Given the description of an element on the screen output the (x, y) to click on. 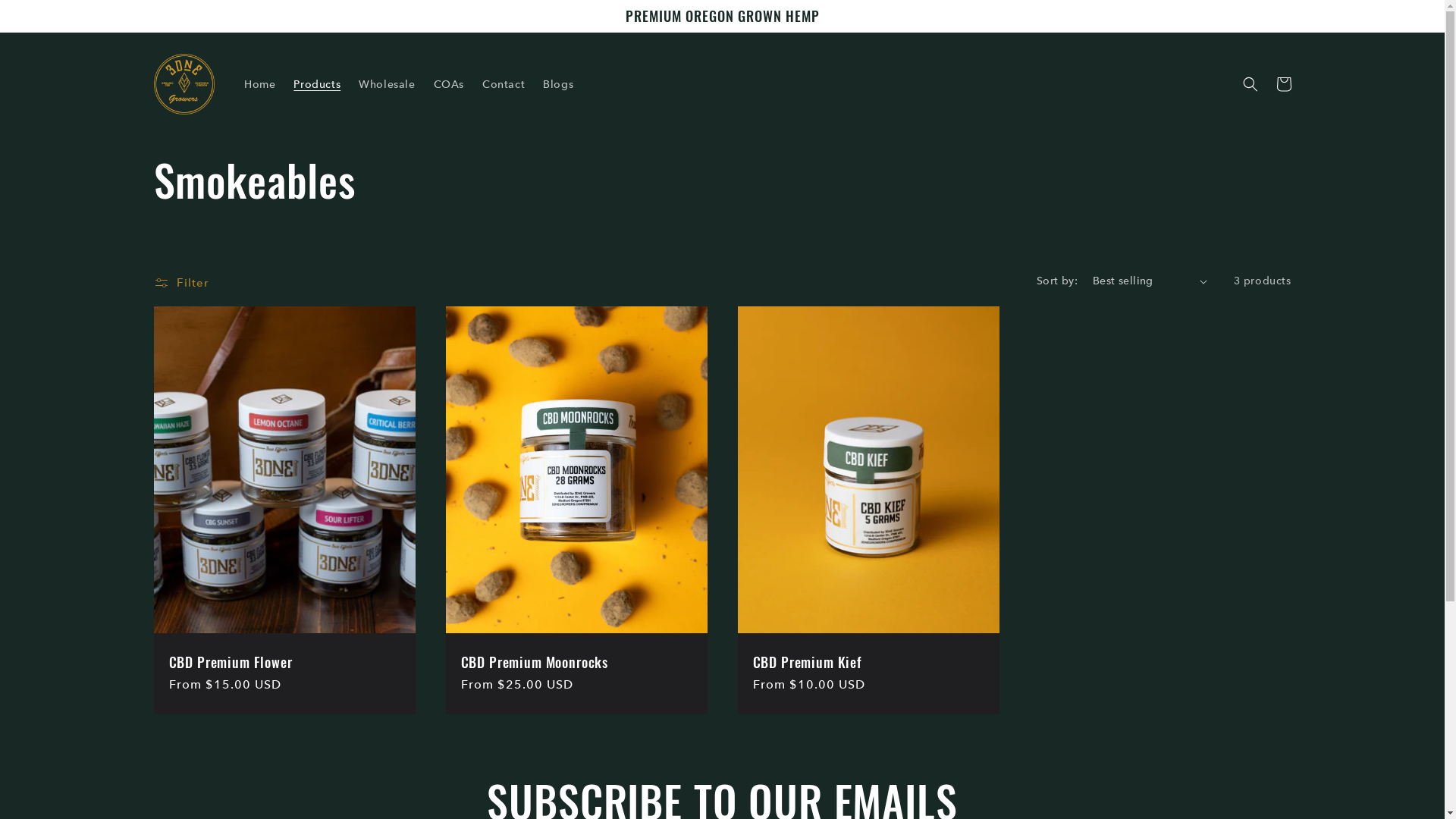
Home Element type: text (259, 84)
CBD Premium Kief Element type: text (867, 661)
Products Element type: text (316, 84)
Wholesale Element type: text (386, 84)
Blogs Element type: text (557, 84)
Contact Element type: text (503, 84)
CBD Premium Moonrocks Element type: text (576, 661)
COAs Element type: text (448, 84)
CBD Premium Flower Element type: text (283, 661)
Cart Element type: text (1282, 83)
